Given the description of an element on the screen output the (x, y) to click on. 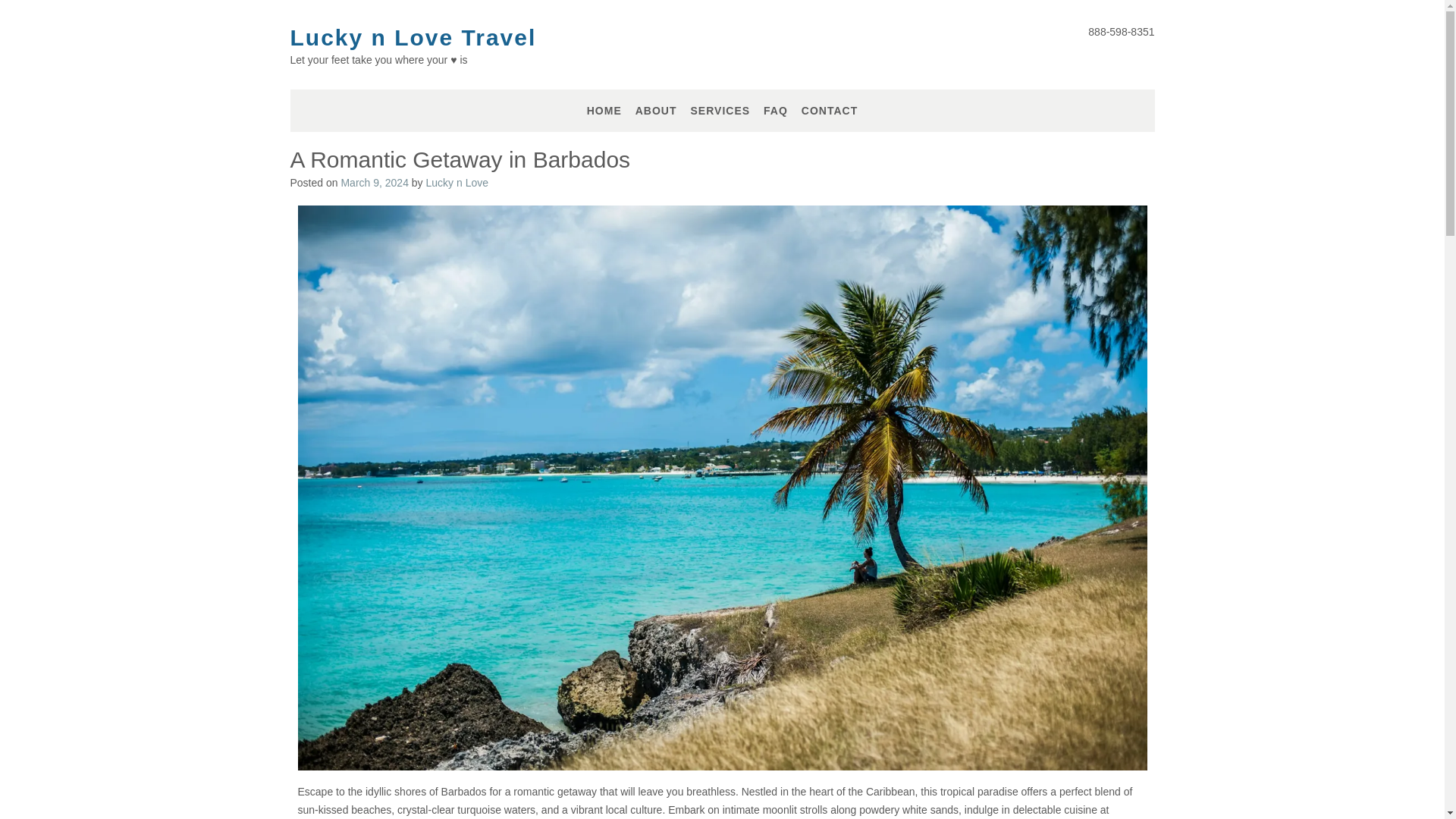
ABOUT (655, 110)
FAQ (774, 110)
Lucky n Love Travel (412, 37)
CONTACT (829, 110)
Lucky n Love (457, 182)
HOME (603, 110)
March 9, 2024 (374, 182)
SERVICES (720, 110)
